Given the description of an element on the screen output the (x, y) to click on. 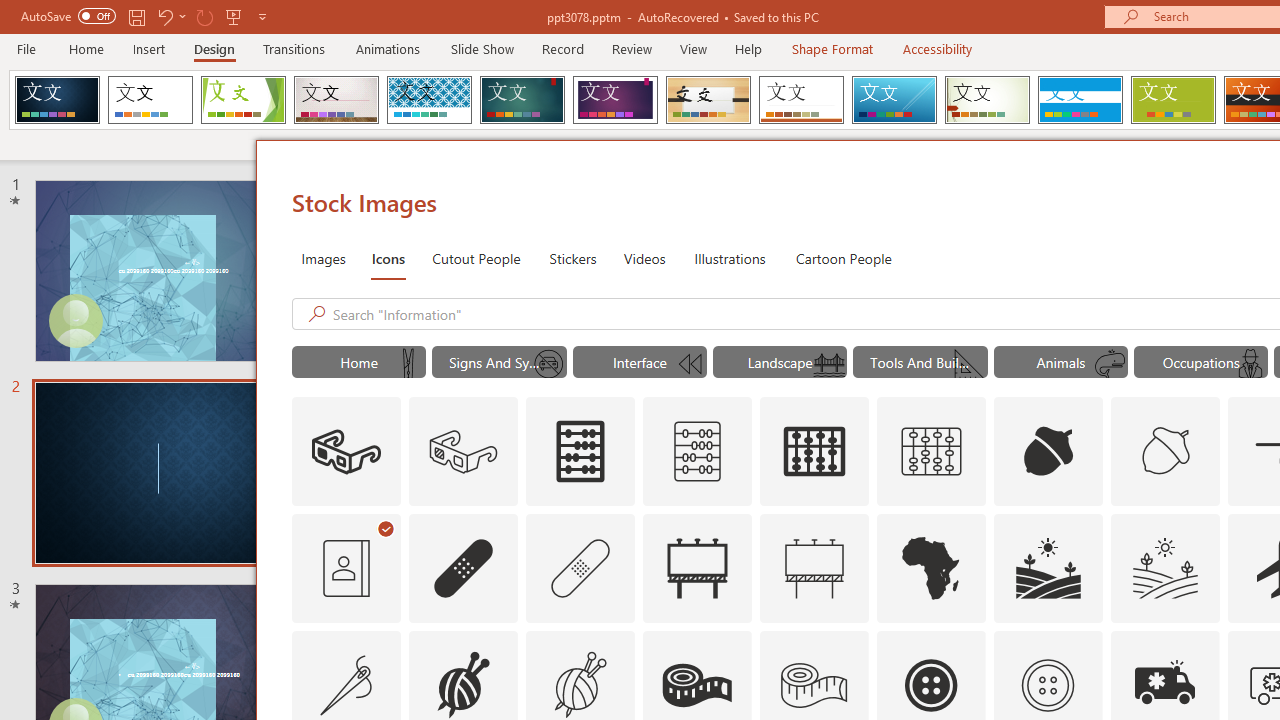
Ion (522, 100)
